Given the description of an element on the screen output the (x, y) to click on. 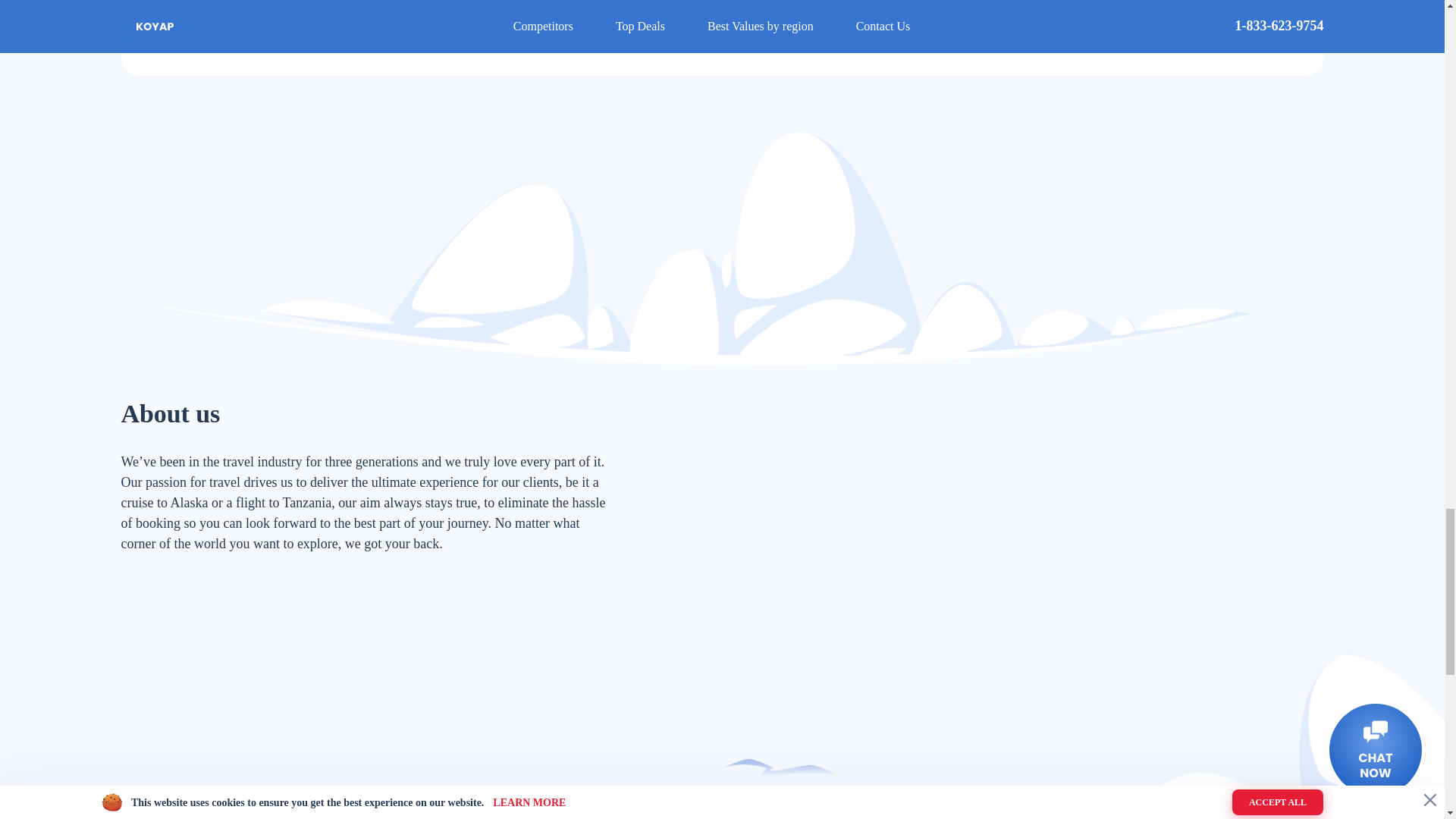
FLIGHT (855, 7)
CRUISE (589, 7)
